Given the description of an element on the screen output the (x, y) to click on. 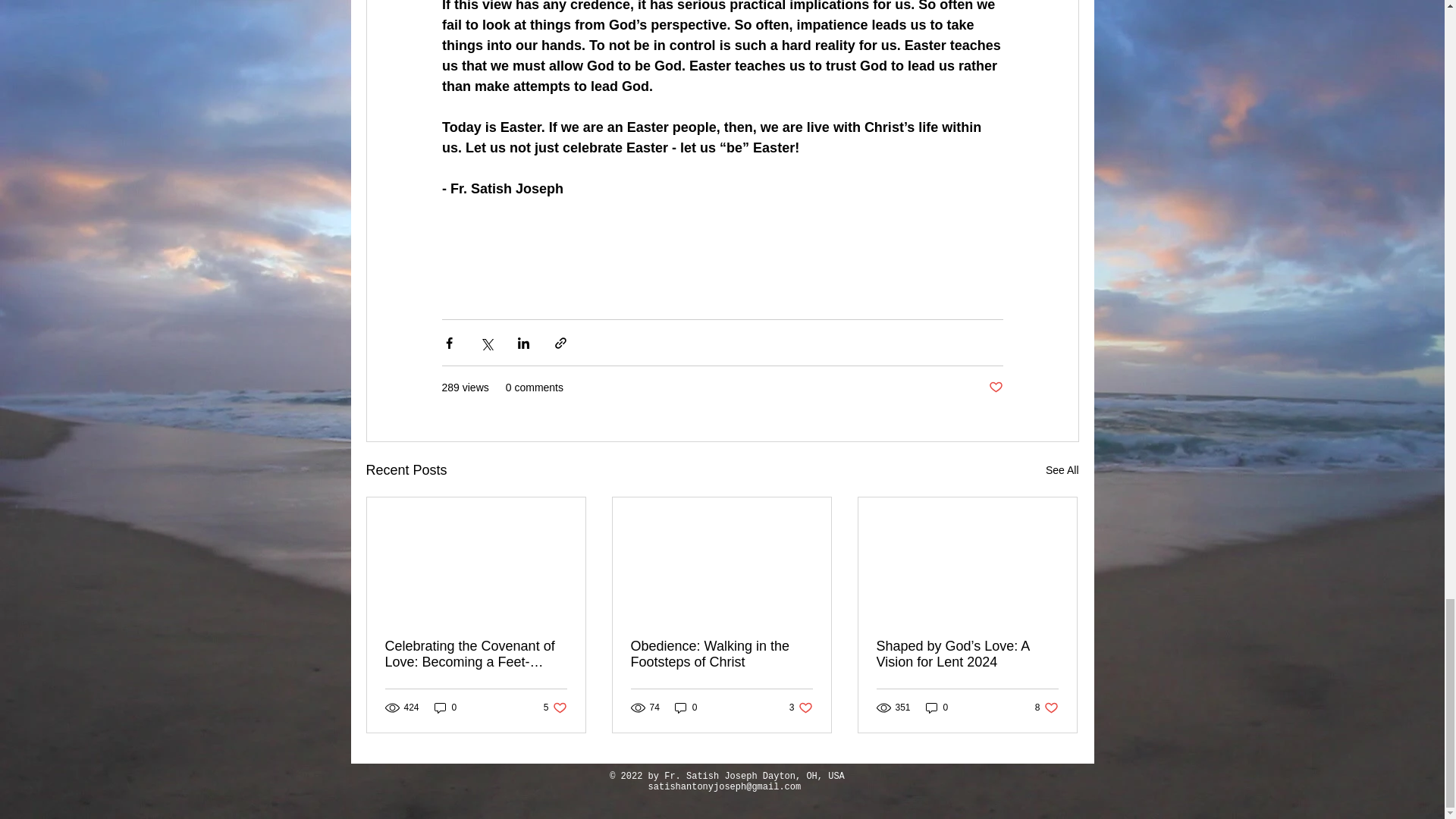
0 (445, 707)
Obedience: Walking in the Footsteps of Christ (721, 654)
0 (937, 707)
Post not marked as liked (800, 707)
See All (995, 387)
0 (555, 707)
